Given the description of an element on the screen output the (x, y) to click on. 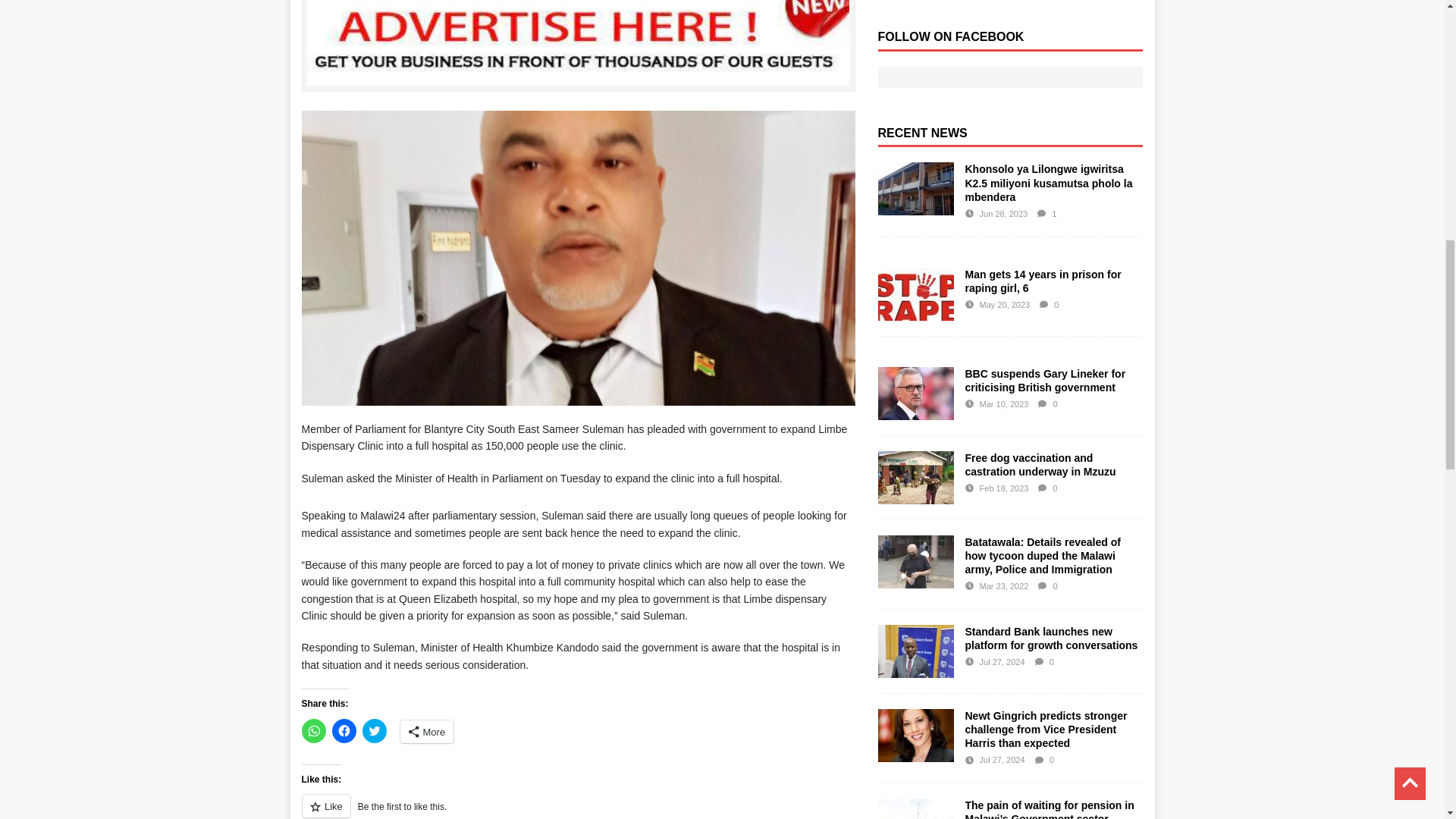
Malawi24 (577, 76)
